Given the description of an element on the screen output the (x, y) to click on. 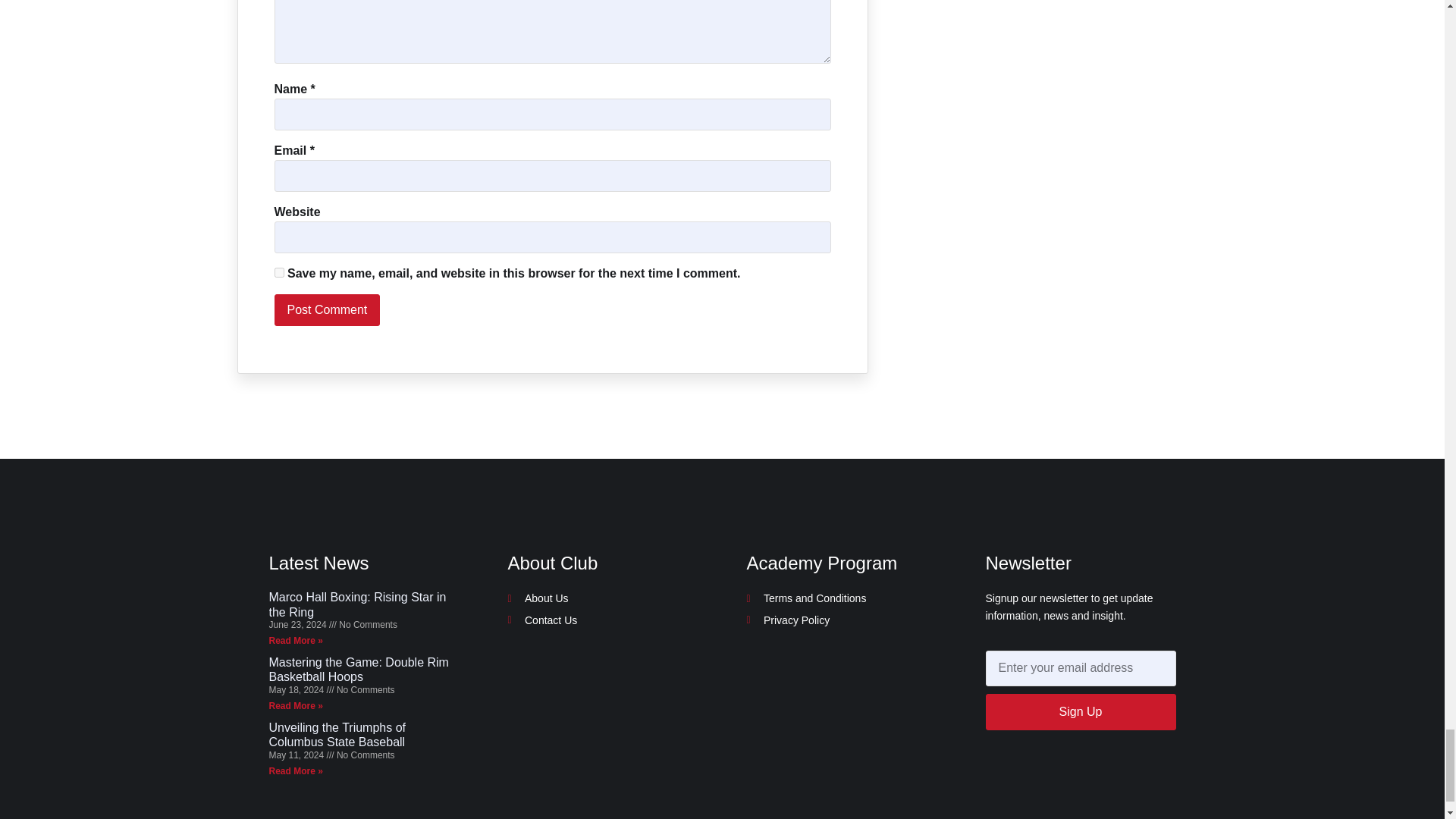
Post Comment (327, 309)
yes (279, 272)
Post Comment (327, 309)
